Given the description of an element on the screen output the (x, y) to click on. 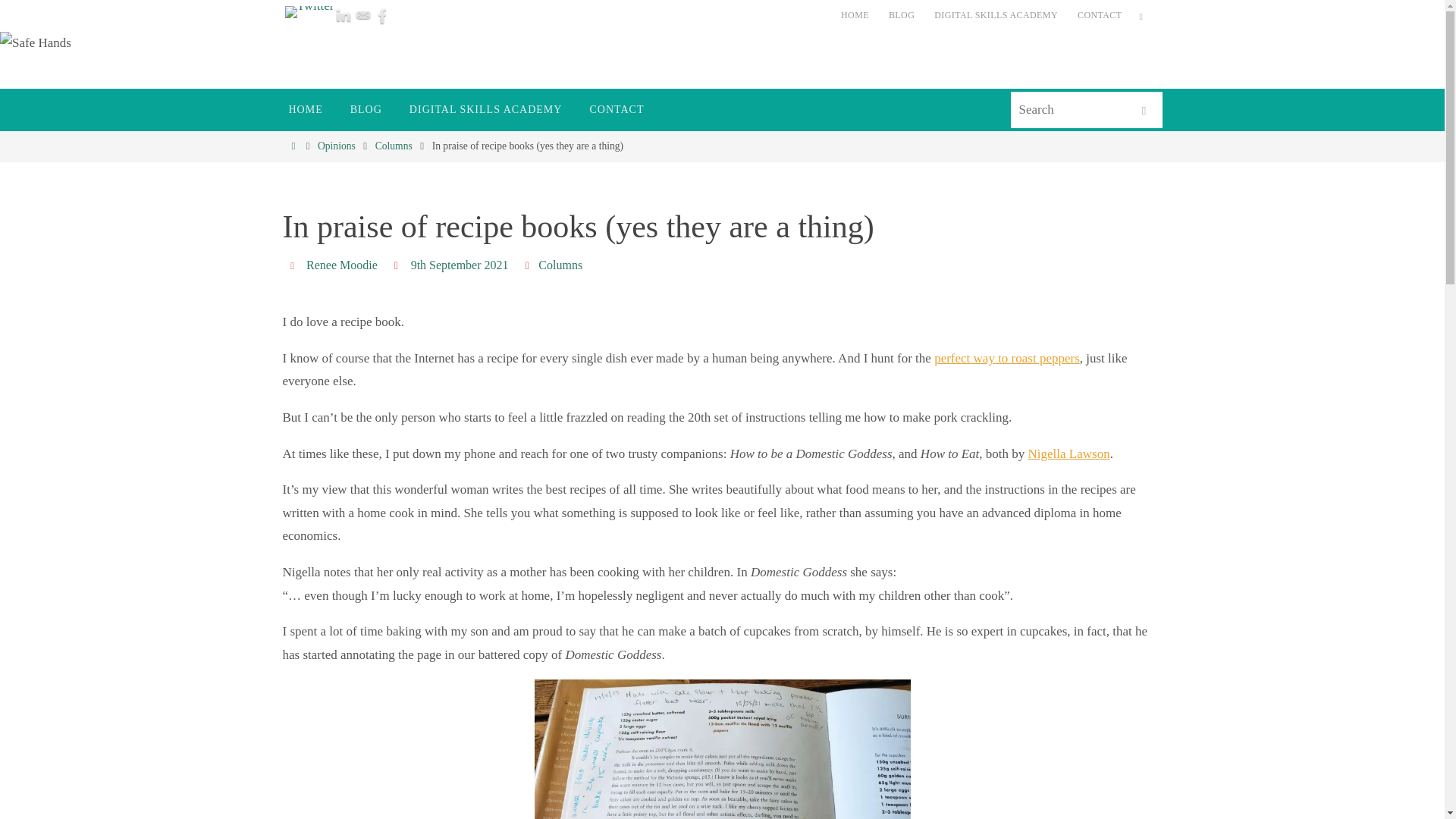
Facebook (382, 15)
BLOG (366, 109)
Nigella Lawson (1068, 453)
Opinions (336, 145)
Columns (393, 145)
DIGITAL SKILLS ACADEMY (486, 109)
Categories (528, 264)
CONTACT (1099, 14)
LinkedIn (343, 15)
View all posts by Renee Moodie (341, 264)
